Given the description of an element on the screen output the (x, y) to click on. 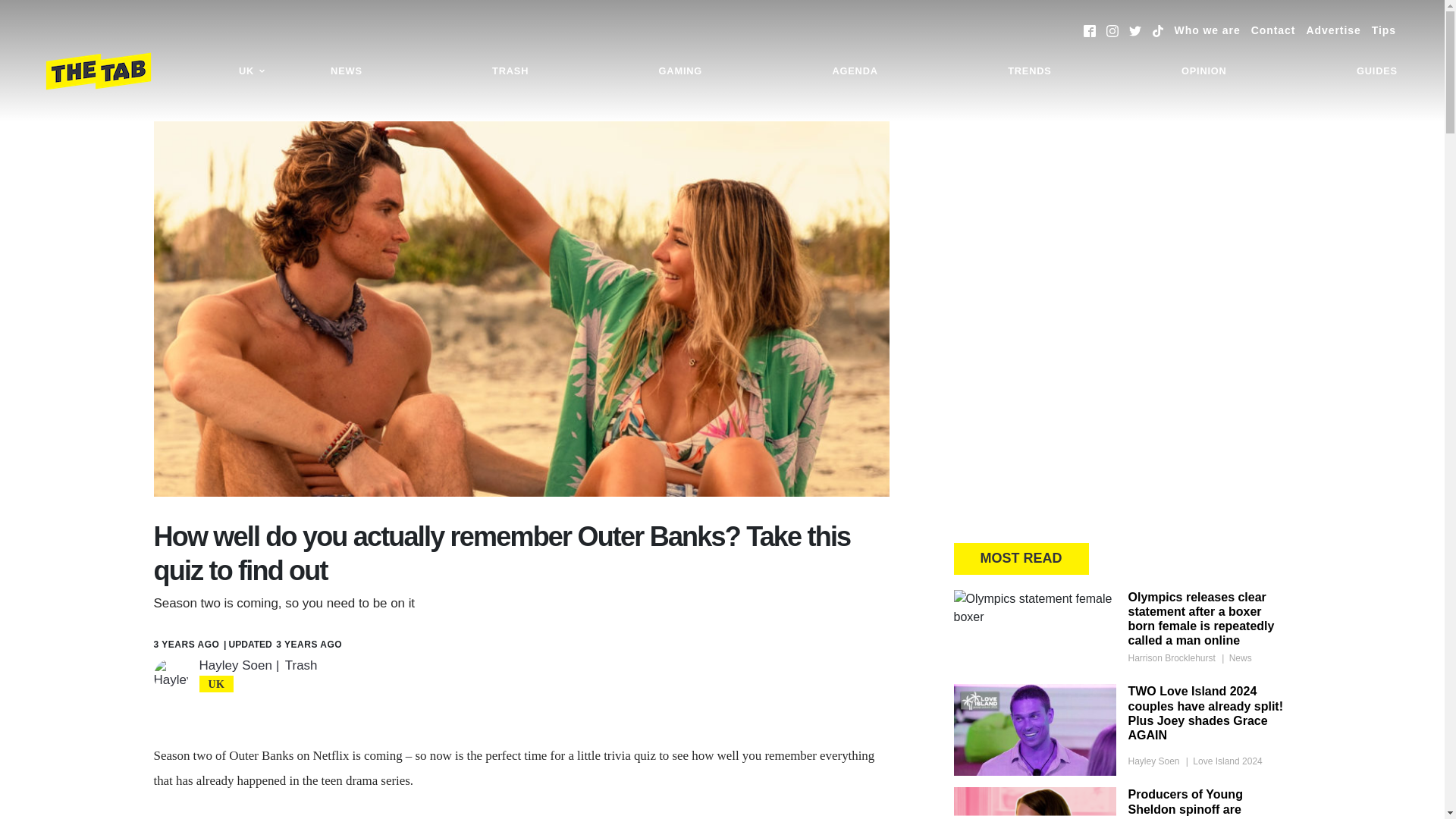
TRASH (510, 71)
UK (252, 71)
TRENDS (1028, 71)
GUIDES (1377, 71)
OPINION (1204, 71)
GAMING (680, 71)
Contact (1272, 29)
Advertise (1332, 29)
AGENDA (854, 71)
NEWS (346, 71)
